Given the description of an element on the screen output the (x, y) to click on. 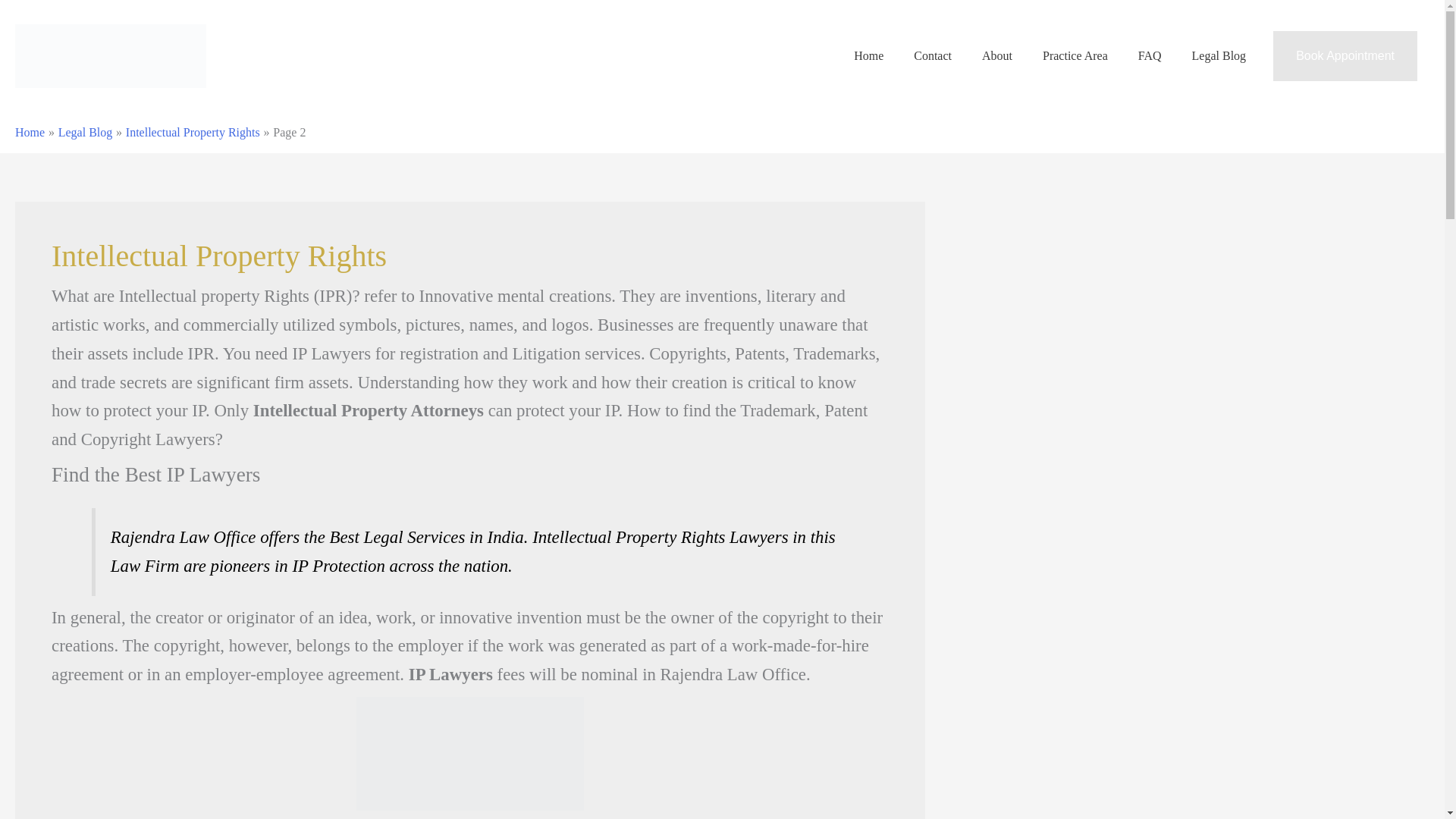
Book Appointment (1344, 56)
FAQ (1149, 55)
Home (868, 55)
Home (29, 132)
Legal Blog (85, 132)
About (996, 55)
Legal Blog (1219, 55)
Intellectual Property Rights (192, 132)
Contact (932, 55)
Practice Area (1074, 55)
